Given the description of an element on the screen output the (x, y) to click on. 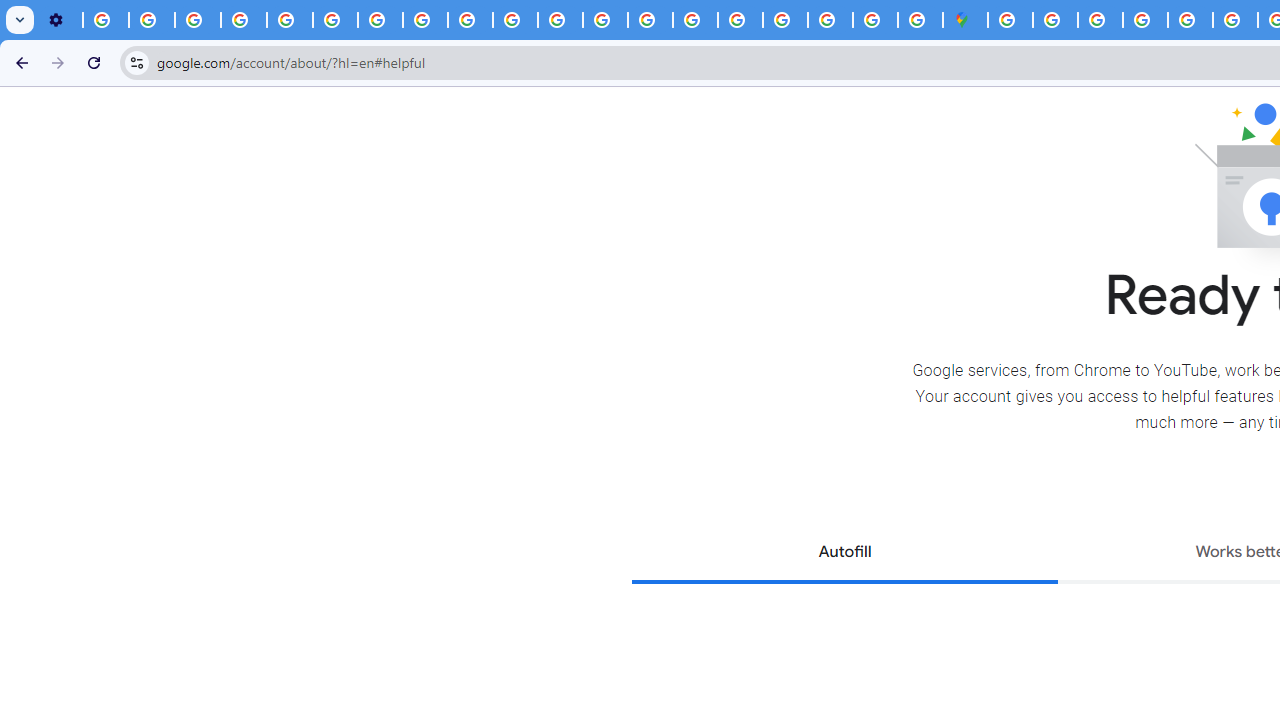
Terms and Conditions (1190, 20)
Sign in - Google Accounts (1055, 20)
Sign in - Google Accounts (1010, 20)
https://scholar.google.com/ (559, 20)
Privacy Checkup (470, 20)
Privacy Checkup (514, 20)
Privacy Help Center - Policies Help (1235, 20)
Autofill (844, 553)
Privacy Help Center - Policies Help (290, 20)
Google Maps (965, 20)
